Given the description of an element on the screen output the (x, y) to click on. 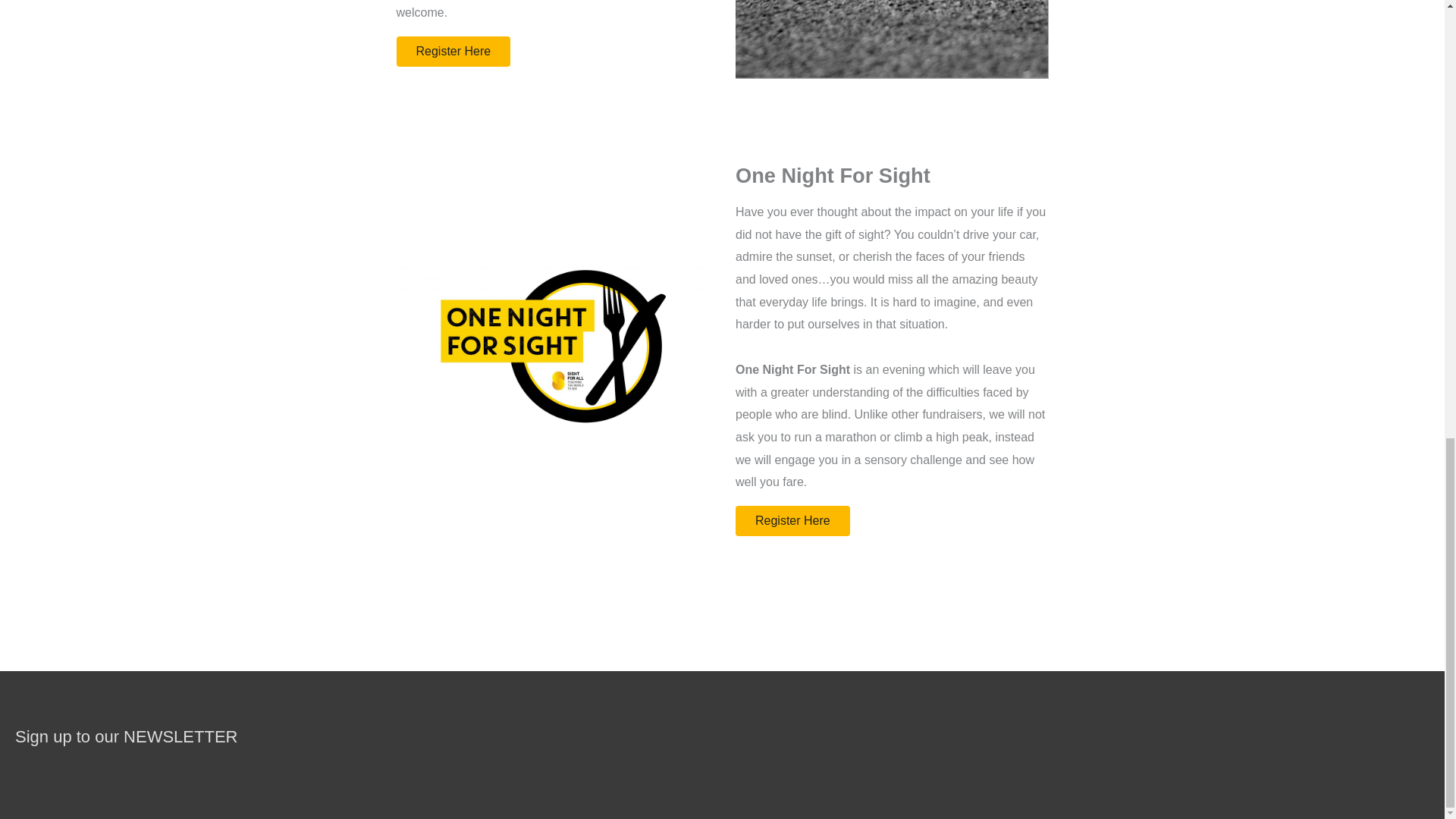
Register Here (453, 51)
Register Here (792, 521)
